Given the description of an element on the screen output the (x, y) to click on. 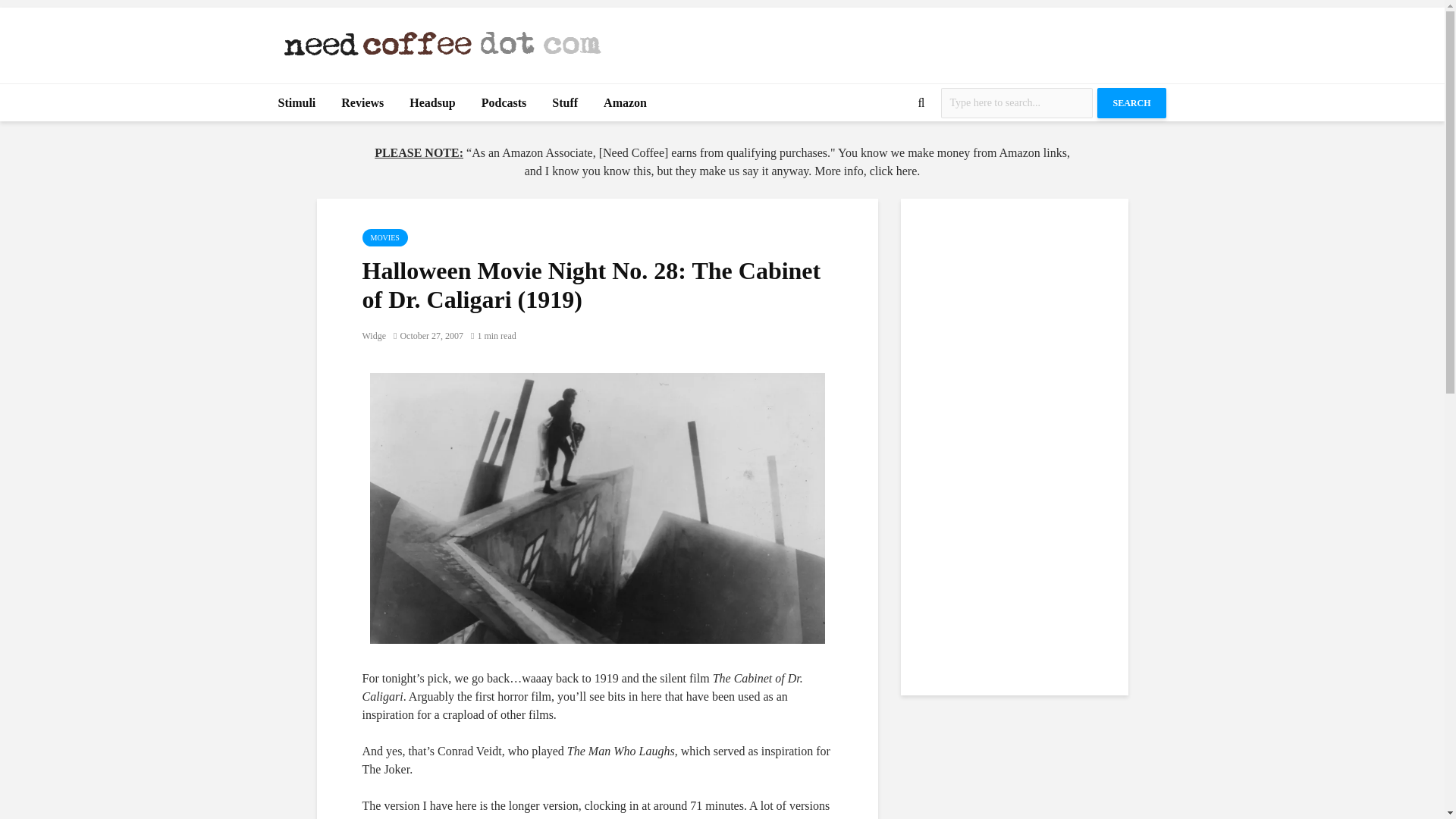
Stimuli (296, 103)
Reviews (362, 103)
Amazon (625, 103)
Stuff (564, 103)
Advertisement (890, 41)
click here. (894, 170)
Headsup (431, 103)
MOVIES (384, 237)
Podcasts (504, 103)
SEARCH (1131, 102)
